Given the description of an element on the screen output the (x, y) to click on. 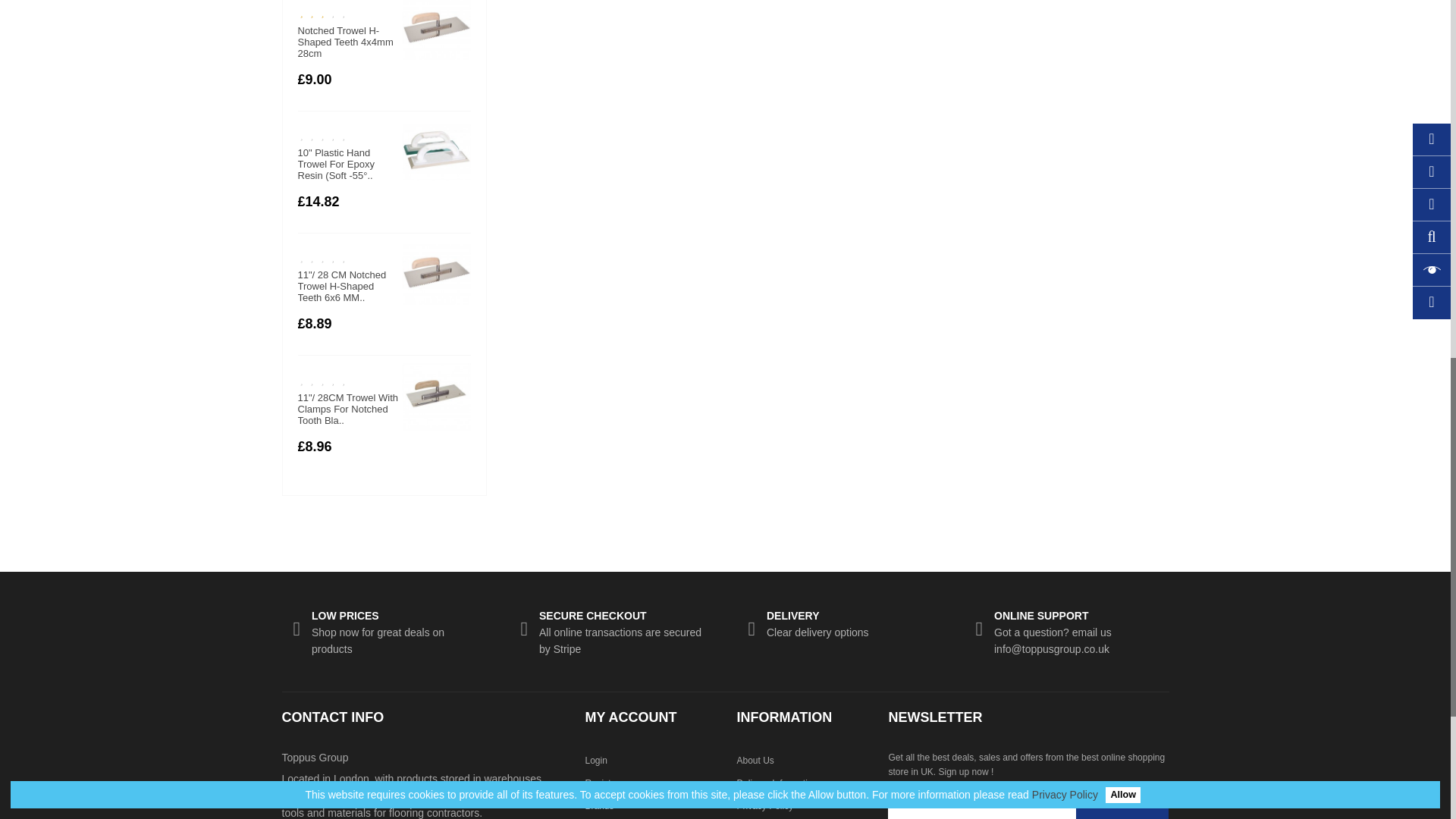
 Notched Trowel H-Shaped Teeth 4x4mm 28cm  (345, 41)
 Notched Trowel H-Shaped Teeth 4x4mm 28cm  (435, 29)
